Given the description of an element on the screen output the (x, y) to click on. 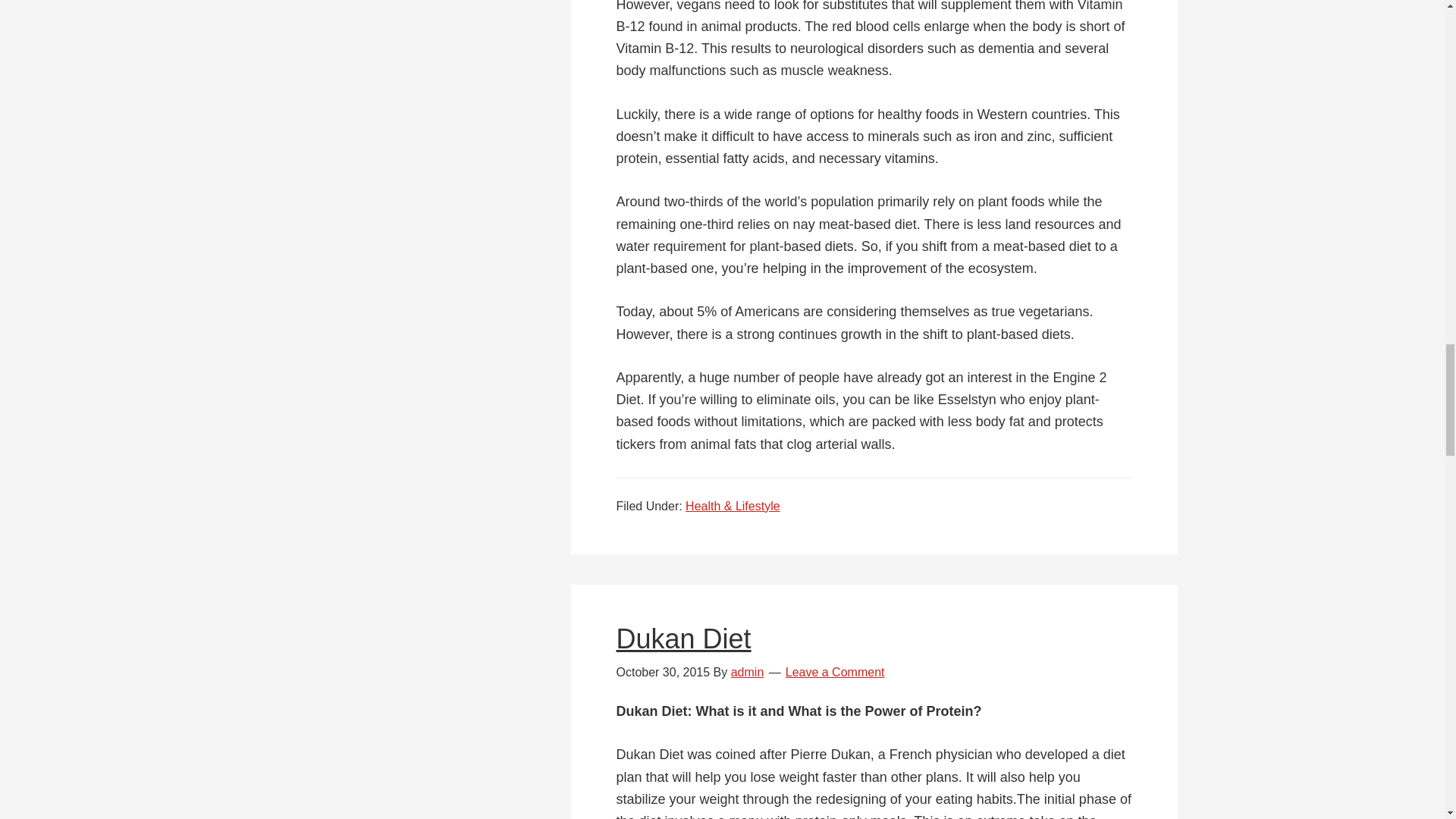
Dukan Diet (683, 638)
admin (747, 671)
Leave a Comment (835, 671)
